Given the description of an element on the screen output the (x, y) to click on. 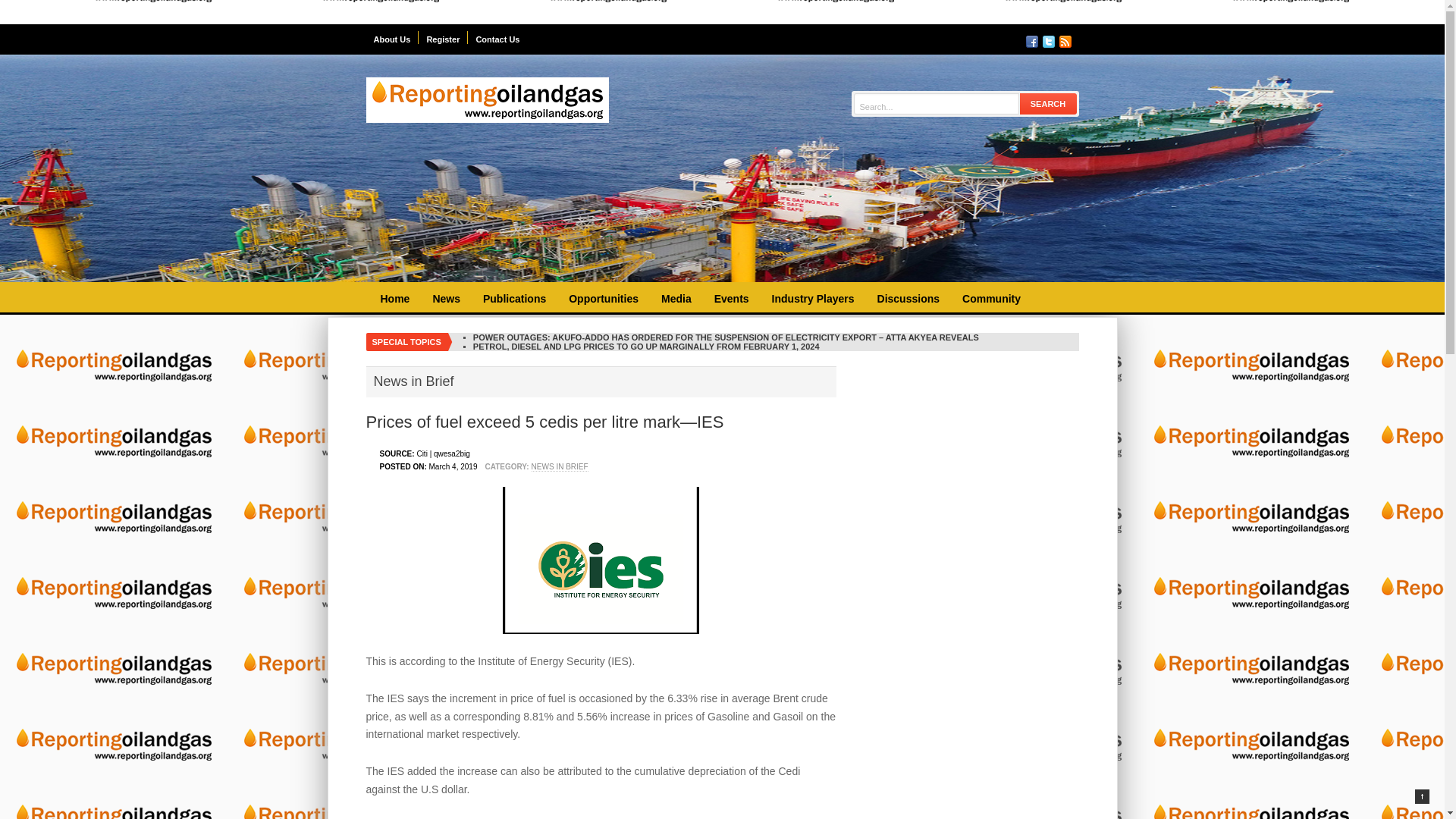
RSS (1064, 41)
Search (1047, 103)
Twitter (1048, 41)
Media (676, 298)
Opportunities (603, 298)
Discussions (908, 298)
About Us (391, 37)
NEWS IN BRIEF (559, 466)
